Given the description of an element on the screen output the (x, y) to click on. 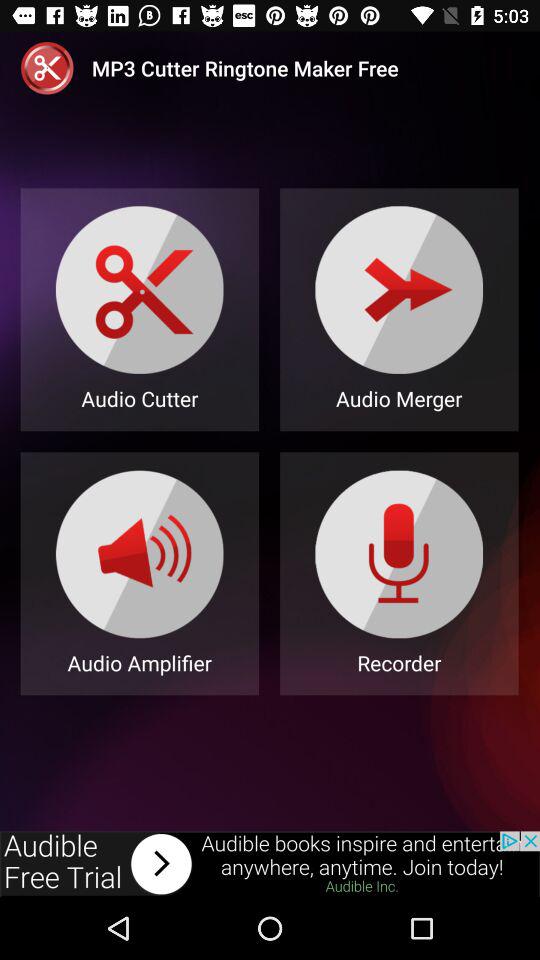
audible inc. add (270, 864)
